Given the description of an element on the screen output the (x, y) to click on. 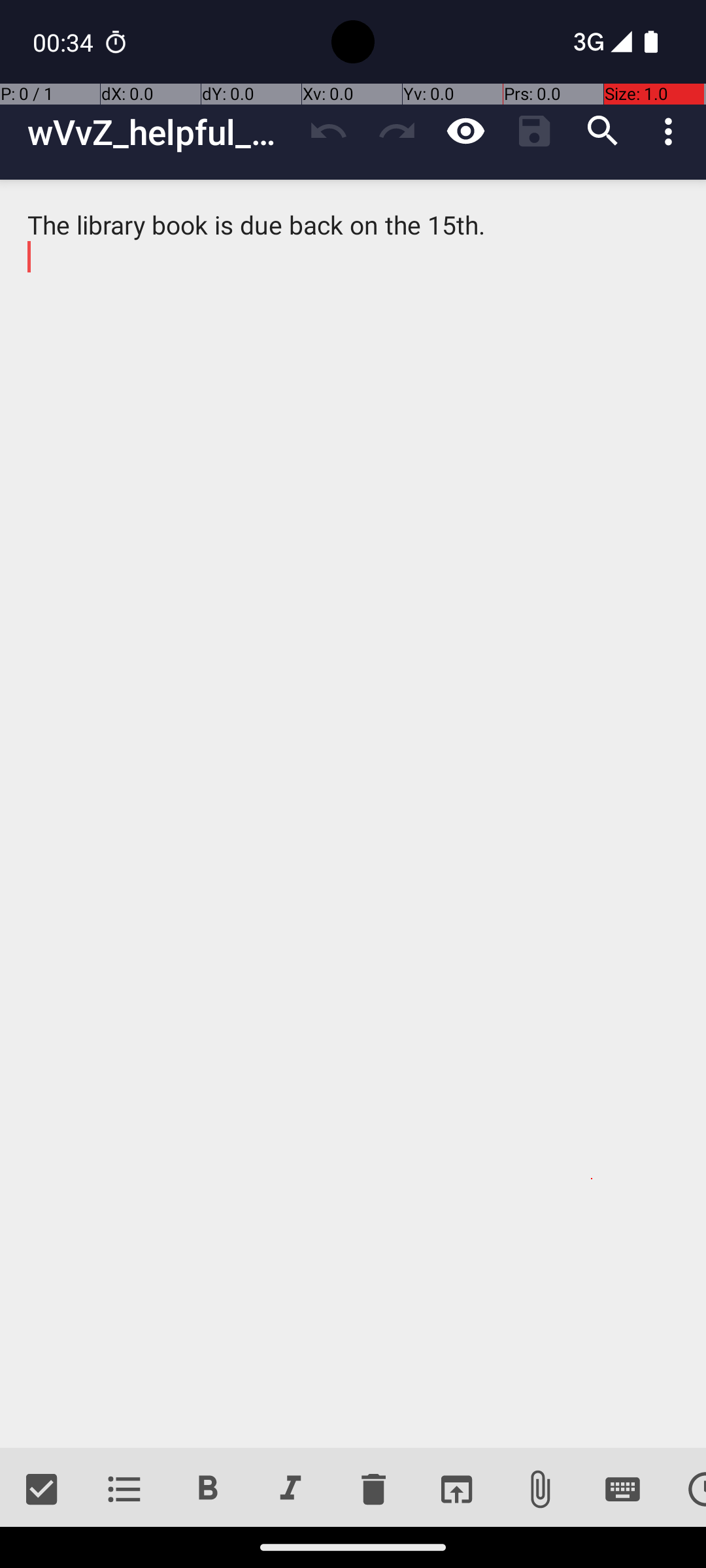
wVvZ_helpful_unicorn Element type: android.widget.TextView (160, 131)
The library book is due back on the 15th.
 Element type: android.widget.EditText (353, 813)
00:34 Element type: android.widget.TextView (64, 41)
